Given the description of an element on the screen output the (x, y) to click on. 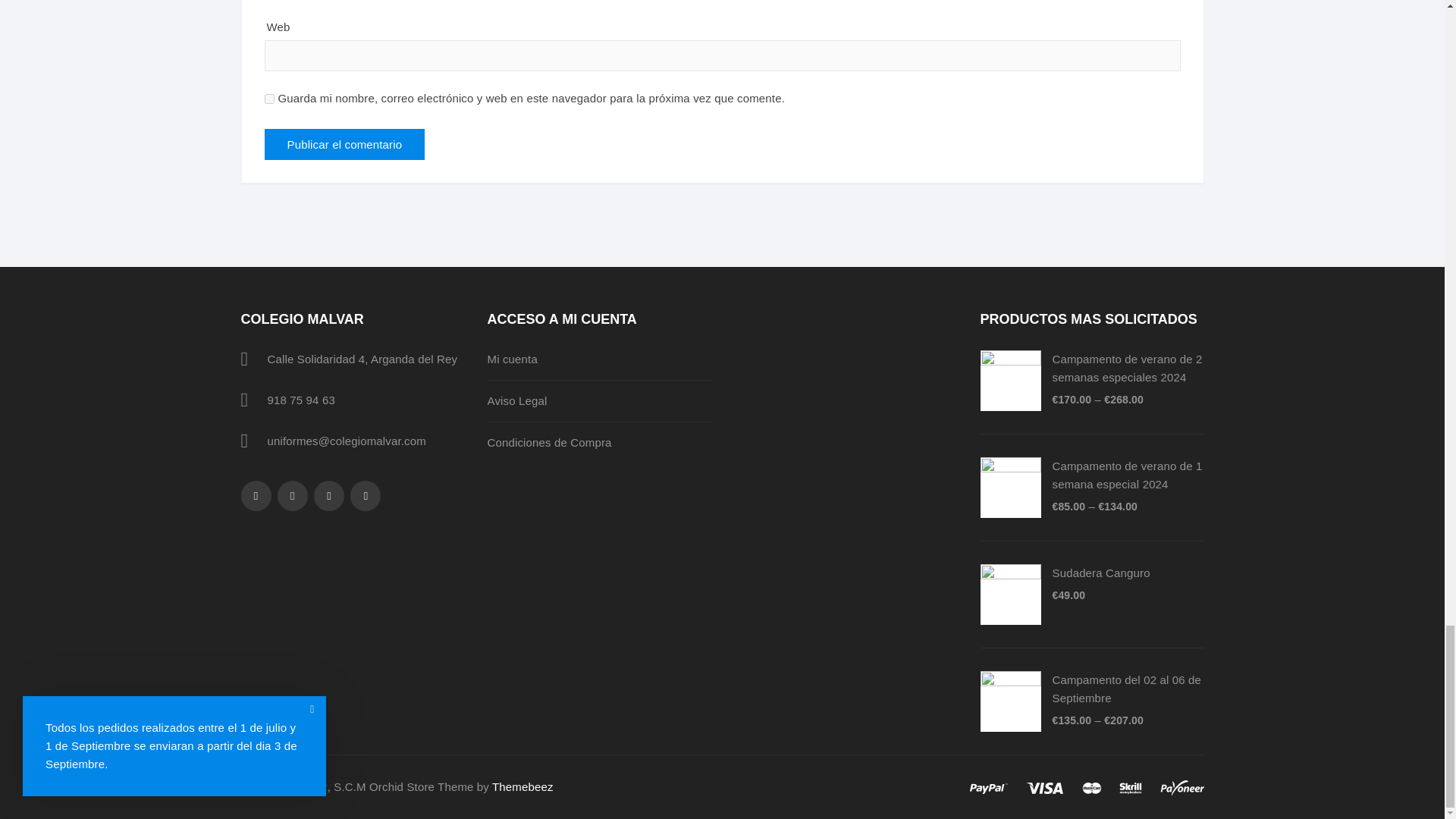
Publicar el comentario (344, 143)
yes (268, 99)
Publicar el comentario (344, 143)
